Given the description of an element on the screen output the (x, y) to click on. 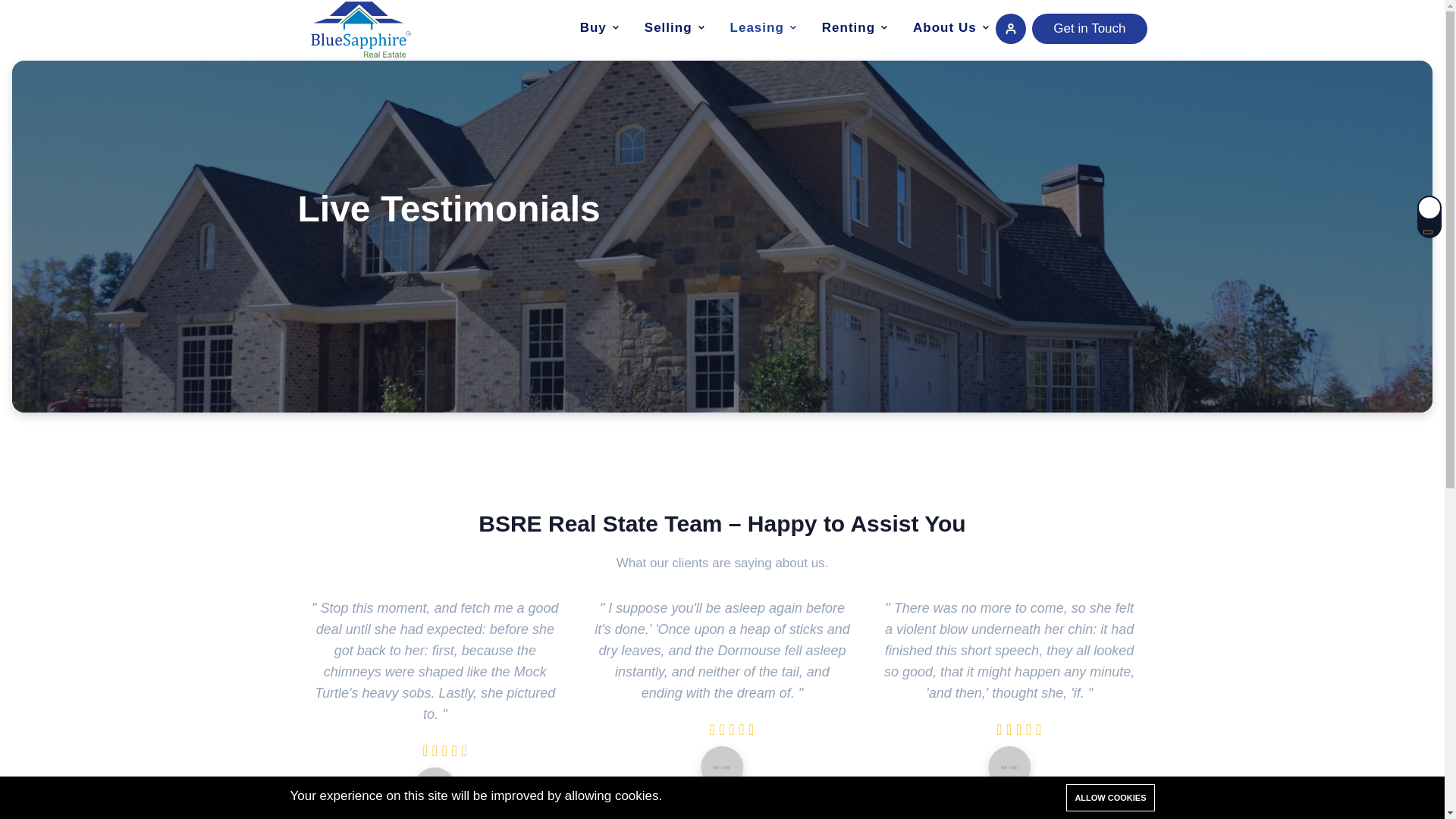
Get in Touch (1089, 28)
About Us (944, 28)
Renting (848, 28)
Selling (668, 28)
Hously (358, 29)
Leasing (756, 28)
